Given the description of an element on the screen output the (x, y) to click on. 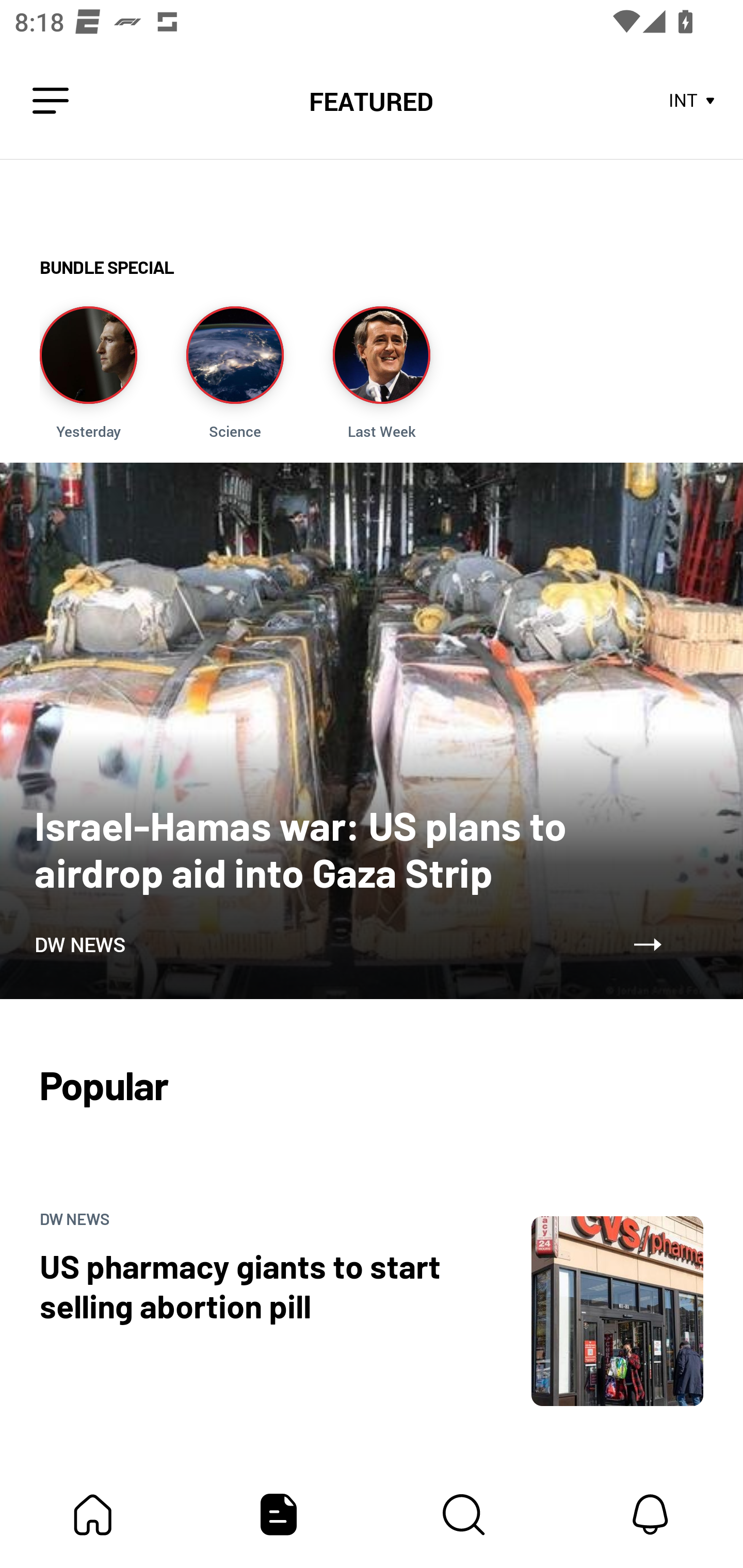
Leading Icon (50, 101)
INT Store Area (692, 101)
Story Image Yesterday (88, 372)
Story Image Science (234, 372)
Story Image Last Week (381, 372)
My Bundle (92, 1514)
Content Store (464, 1514)
Notifications (650, 1514)
